Given the description of an element on the screen output the (x, y) to click on. 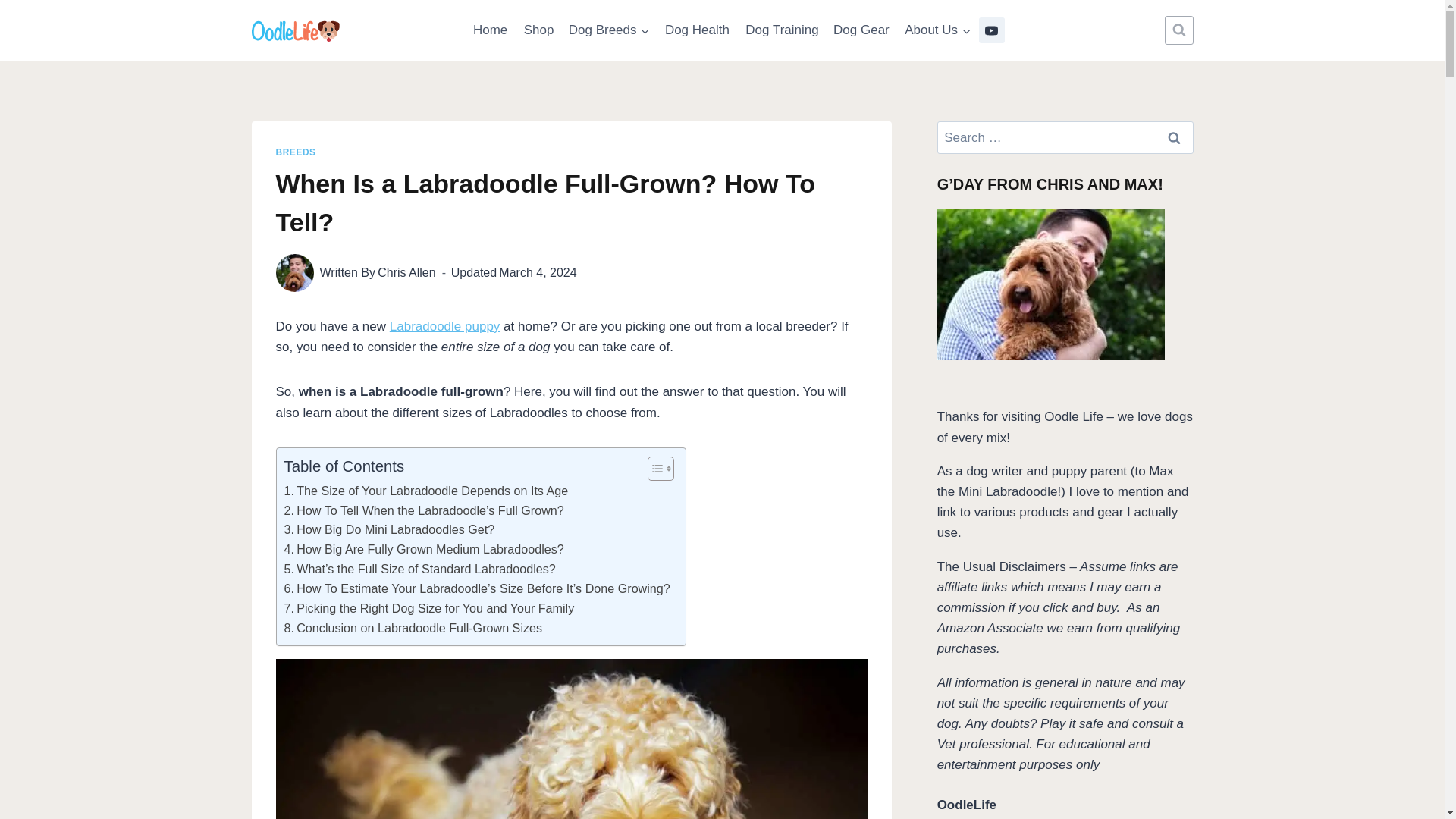
How Big Are Fully Grown Medium Labradoodles? (423, 549)
The Size of Your Labradoodle Depends on Its Age (425, 491)
Search (1174, 137)
Dog Gear (860, 30)
How Big Do Mini Labradoodles Get? (389, 529)
About Us (937, 30)
Dog Breeds (609, 30)
Search (1174, 137)
The Size of Your Labradoodle Depends on Its Age (425, 491)
Picking the Right Dog Size for You and Your Family (428, 608)
Chris Allen (406, 272)
Dog Training (782, 30)
Dog Health (697, 30)
How Big Are Fully Grown Medium Labradoodles? (423, 549)
How Big Do Mini Labradoodles Get? (389, 529)
